Given the description of an element on the screen output the (x, y) to click on. 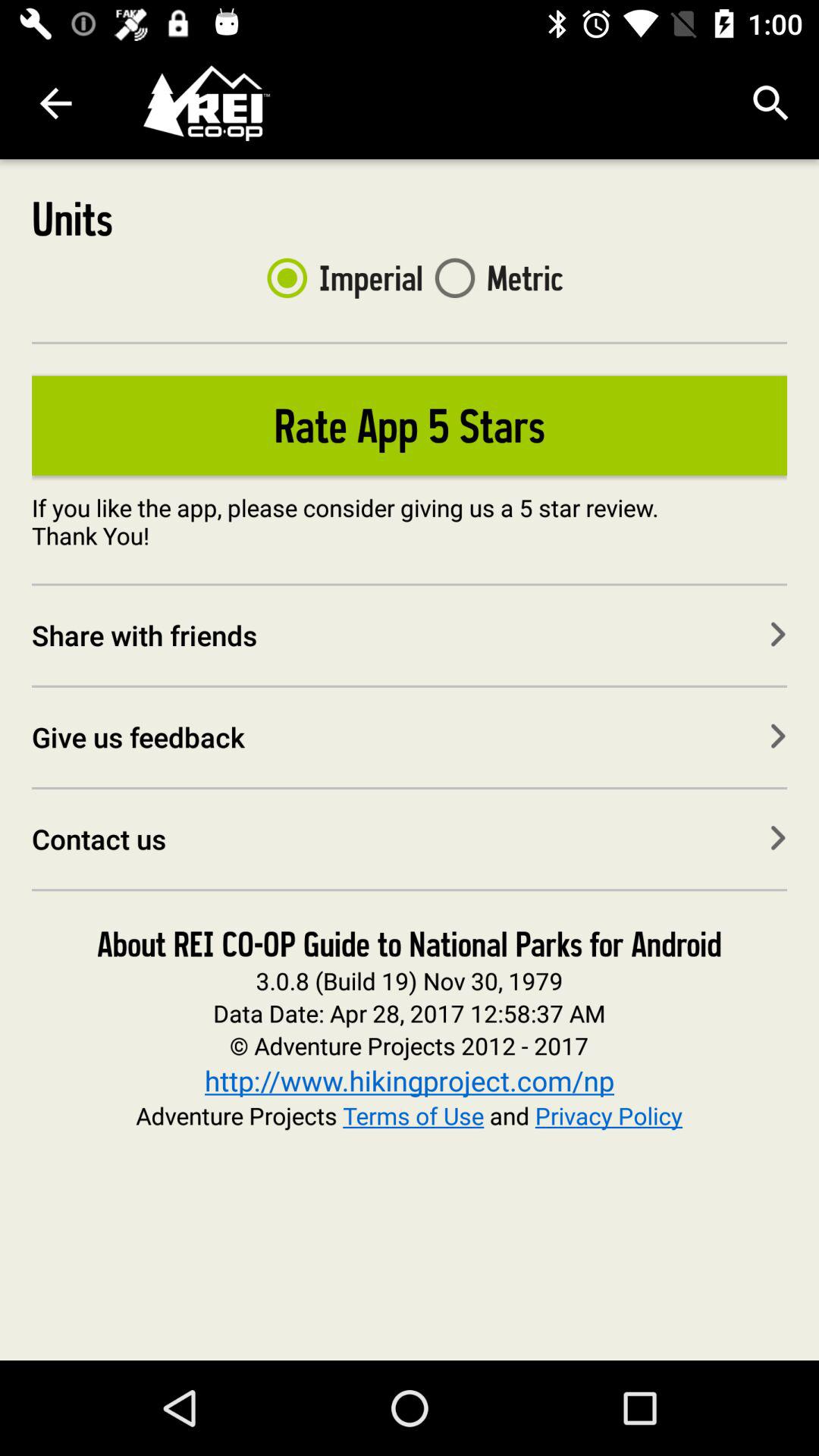
jump until http www hikingproject (409, 1080)
